Given the description of an element on the screen output the (x, y) to click on. 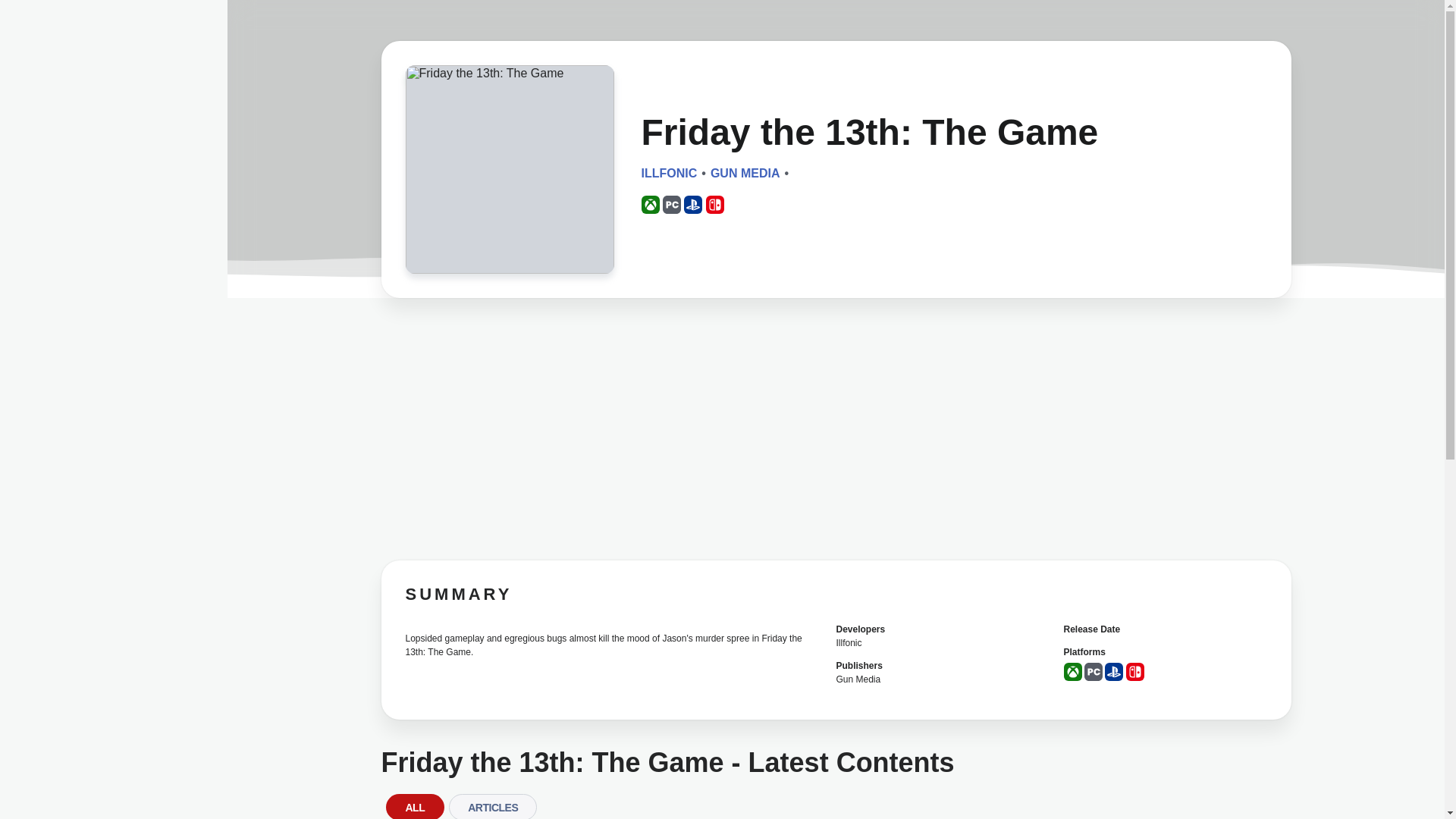
PC (1093, 671)
ALL (414, 806)
ARTICLES (492, 806)
Friday the 13th: The Game (508, 169)
PC (671, 204)
PS4 (692, 204)
Illfonic (848, 643)
XboxOne (1071, 671)
ALL (414, 806)
NintendoSwitch (714, 204)
ARTICLES (492, 806)
XboxOne (650, 204)
Gun Media (857, 679)
PS4 (1113, 671)
Friday the 13th: The Game (508, 173)
